Given the description of an element on the screen output the (x, y) to click on. 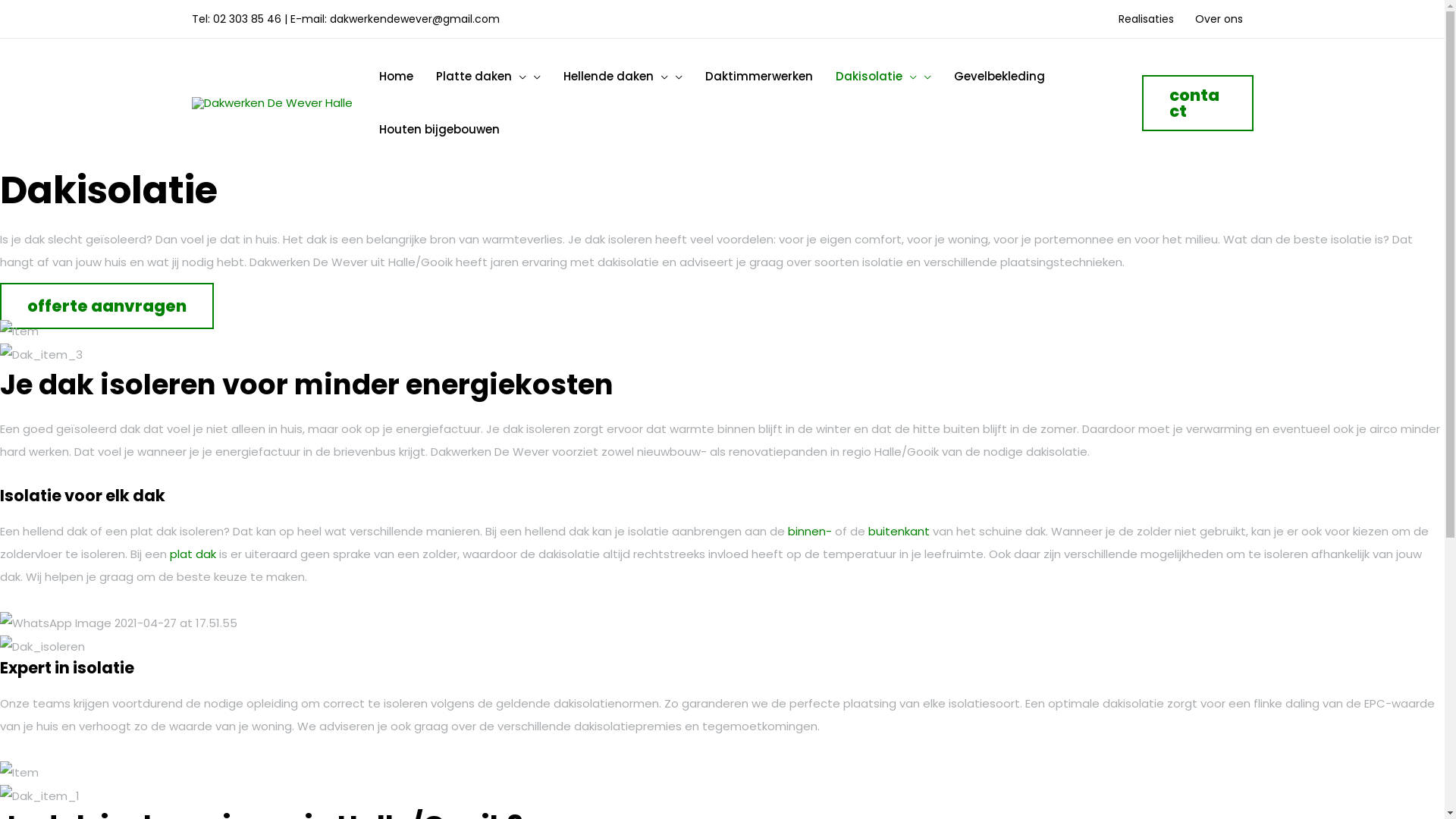
Dakisolatie Element type: text (882, 76)
Hellende daken Element type: text (622, 76)
binnen- Element type: text (809, 531)
Dak_item_1 Element type: hover (39, 795)
Houten bijgebouwen Element type: text (438, 129)
Gevelbekleding Element type: text (998, 76)
Platte daken Element type: text (488, 76)
Home Element type: text (395, 76)
offerte aanvragen Element type: text (106, 305)
Item Element type: hover (19, 331)
Tel: 02 303 85 46 Element type: text (235, 18)
WhatsApp Image 2021-04-27 at 17.51.55 Element type: hover (118, 622)
Over ons Element type: text (1218, 18)
Dak_isoleren Element type: hover (42, 646)
Realisaties Element type: text (1145, 18)
buitenkant Element type: text (898, 531)
Dak_item_3 Element type: hover (41, 354)
E-mail: dakwerkendewever@gmail.com Element type: text (393, 18)
Daktimmerwerken Element type: text (758, 76)
contact Element type: text (1197, 103)
Item Element type: hover (19, 772)
plat dak Element type: text (192, 553)
